Given the description of an element on the screen output the (x, y) to click on. 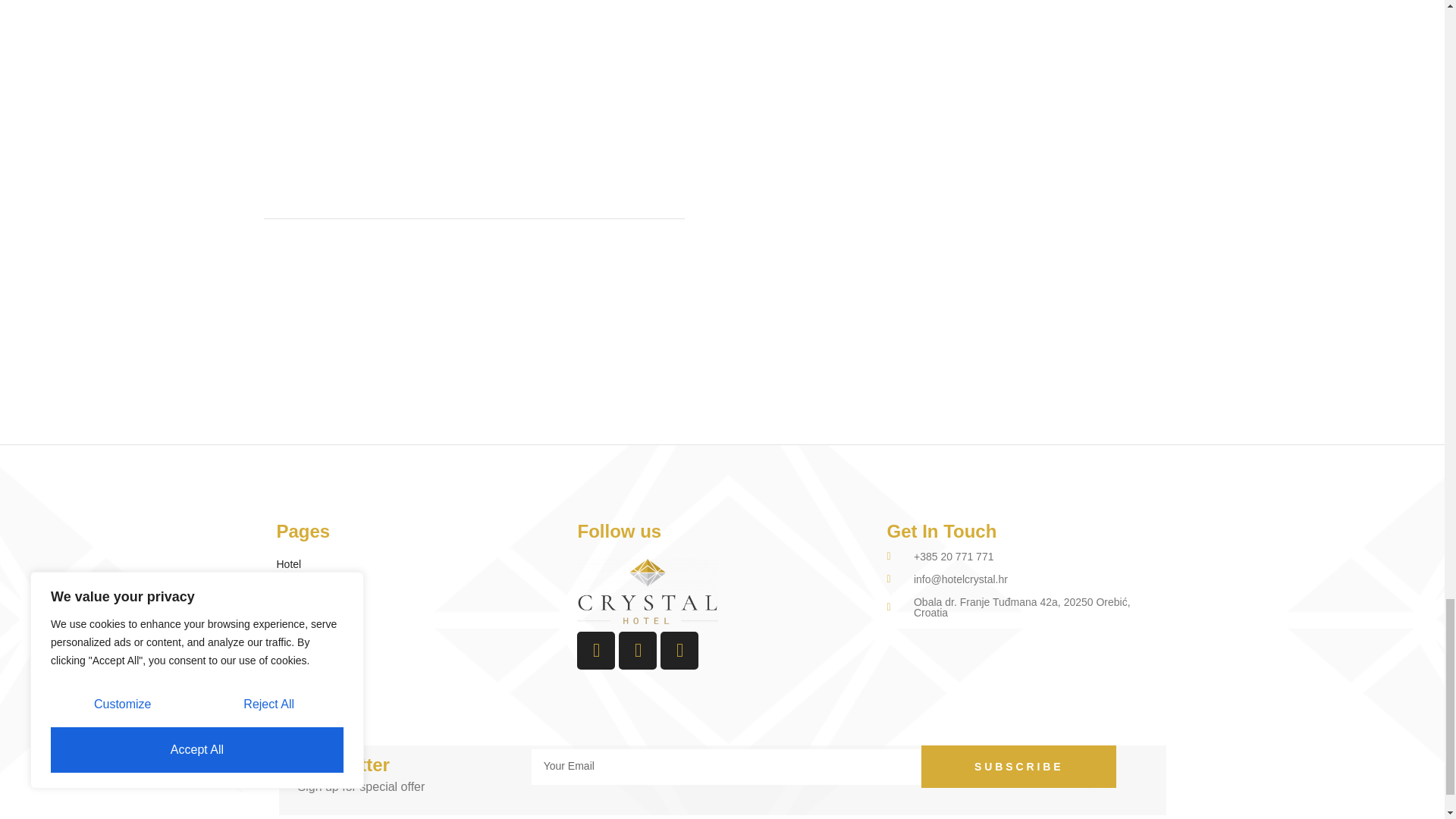
Hotel (326, 563)
